Given the description of an element on the screen output the (x, y) to click on. 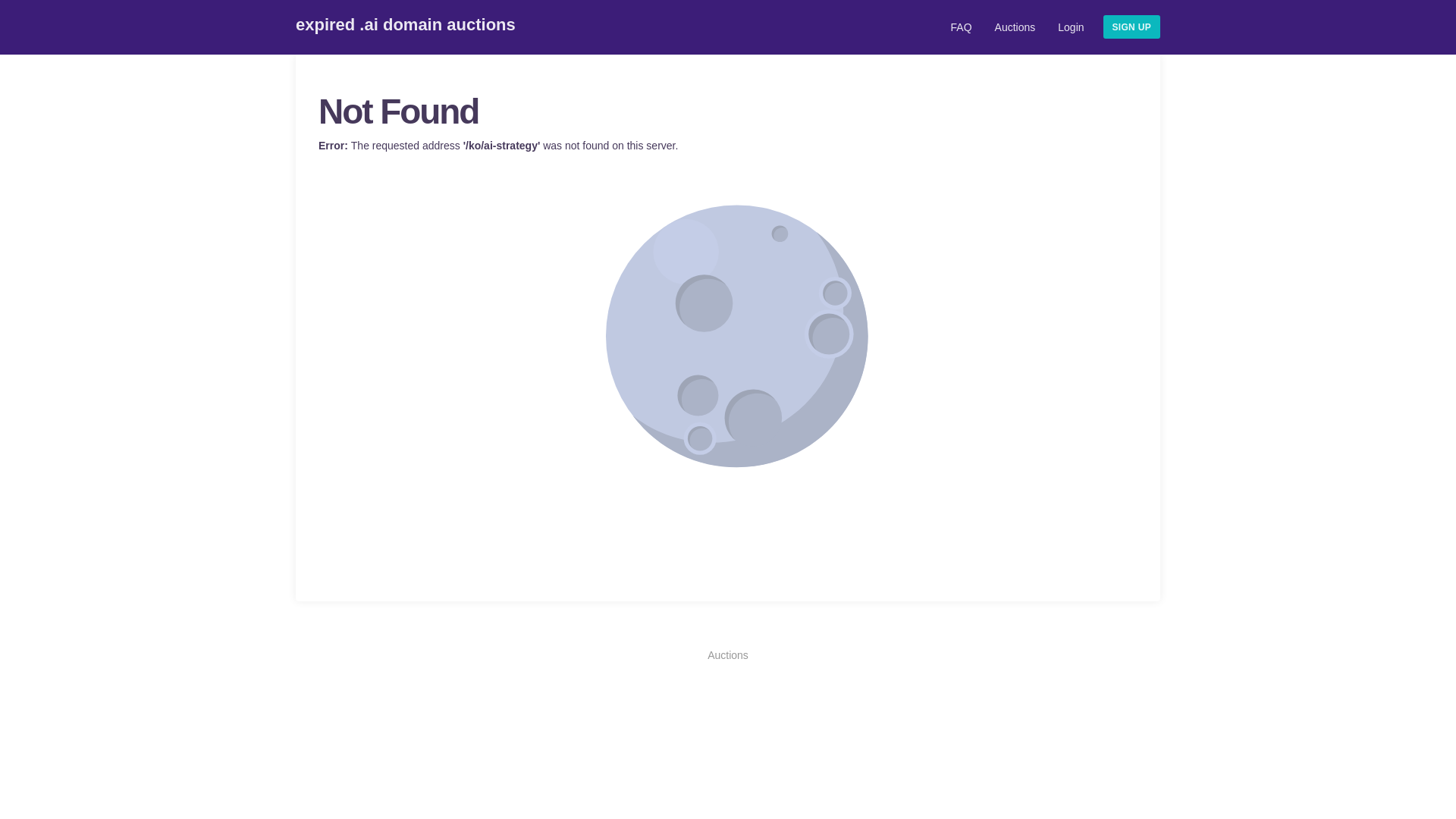
Auctions (1015, 31)
expired .ai domain auctions (412, 26)
Auctions (727, 654)
FAQ (961, 31)
Login (1070, 31)
SIGN UP (1131, 26)
